Given the description of an element on the screen output the (x, y) to click on. 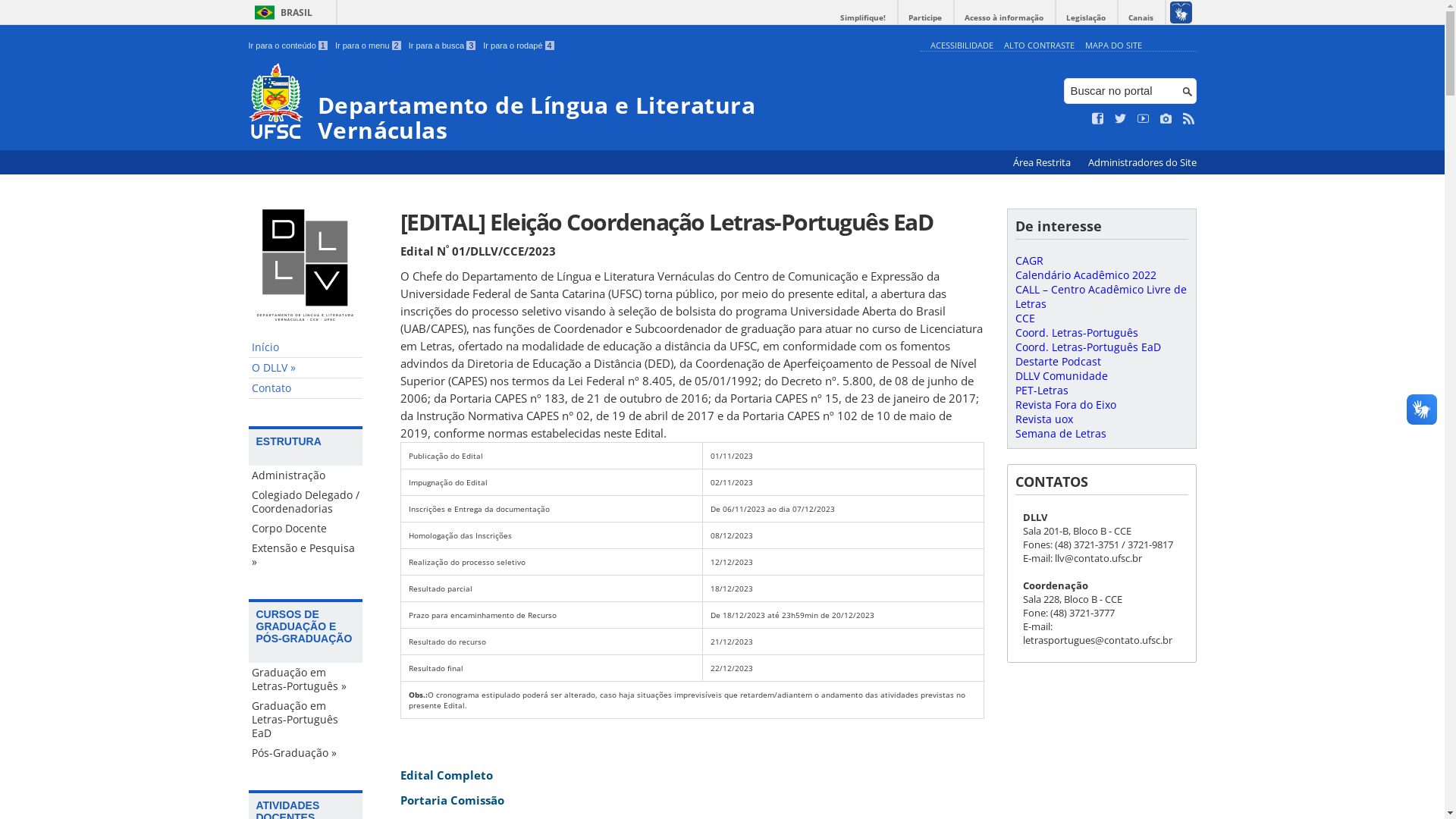
ALTO CONTRASTE Element type: text (1039, 44)
CAGR Element type: text (1028, 260)
Curta no Facebook Element type: hover (1098, 118)
Ir para o menu 2 Element type: text (368, 45)
Semana de Letras Element type: text (1059, 433)
Canais Element type: text (1140, 18)
Destarte Podcast Element type: text (1057, 361)
Corpo Docente Element type: text (305, 528)
Administradores do Site Element type: text (1141, 162)
CCE Element type: text (1024, 317)
MAPA DO SITE Element type: text (1112, 44)
BRASIL Element type: text (280, 12)
Contato Element type: text (305, 388)
PET-Letras Element type: text (1040, 389)
Veja no Instagram Element type: hover (1166, 118)
Simplifique! Element type: text (862, 18)
Ir para a busca 3 Element type: text (442, 45)
Participe Element type: text (924, 18)
Siga no Twitter Element type: hover (1120, 118)
Colegiado Delegado / Coordenadorias Element type: text (305, 501)
DLLV Comunidade Element type: text (1060, 375)
Revista Fora do Eixo Element type: text (1064, 404)
ACESSIBILIDADE Element type: text (960, 44)
Edital Completo Element type: text (446, 774)
Revista uox Element type: text (1043, 418)
